Given the description of an element on the screen output the (x, y) to click on. 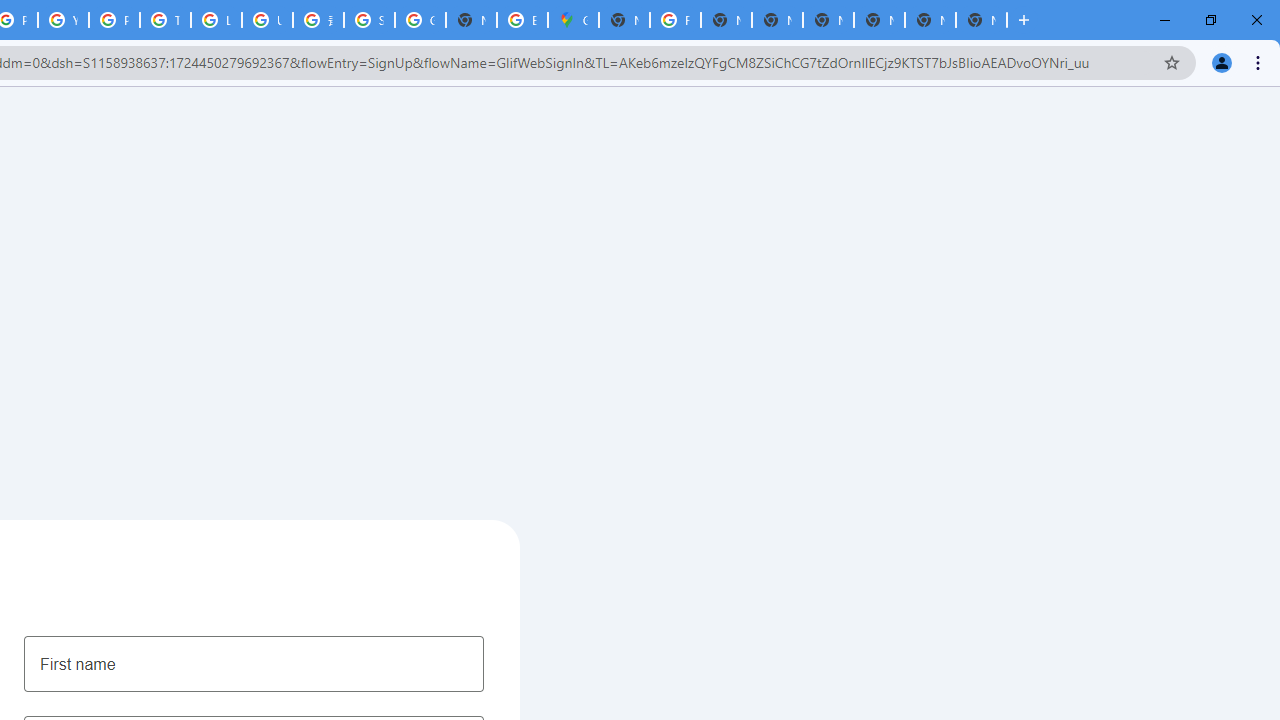
New Tab (624, 20)
Explore new street-level details - Google Maps Help (521, 20)
New Tab (930, 20)
Bookmark this tab (1171, 62)
